Given the description of an element on the screen output the (x, y) to click on. 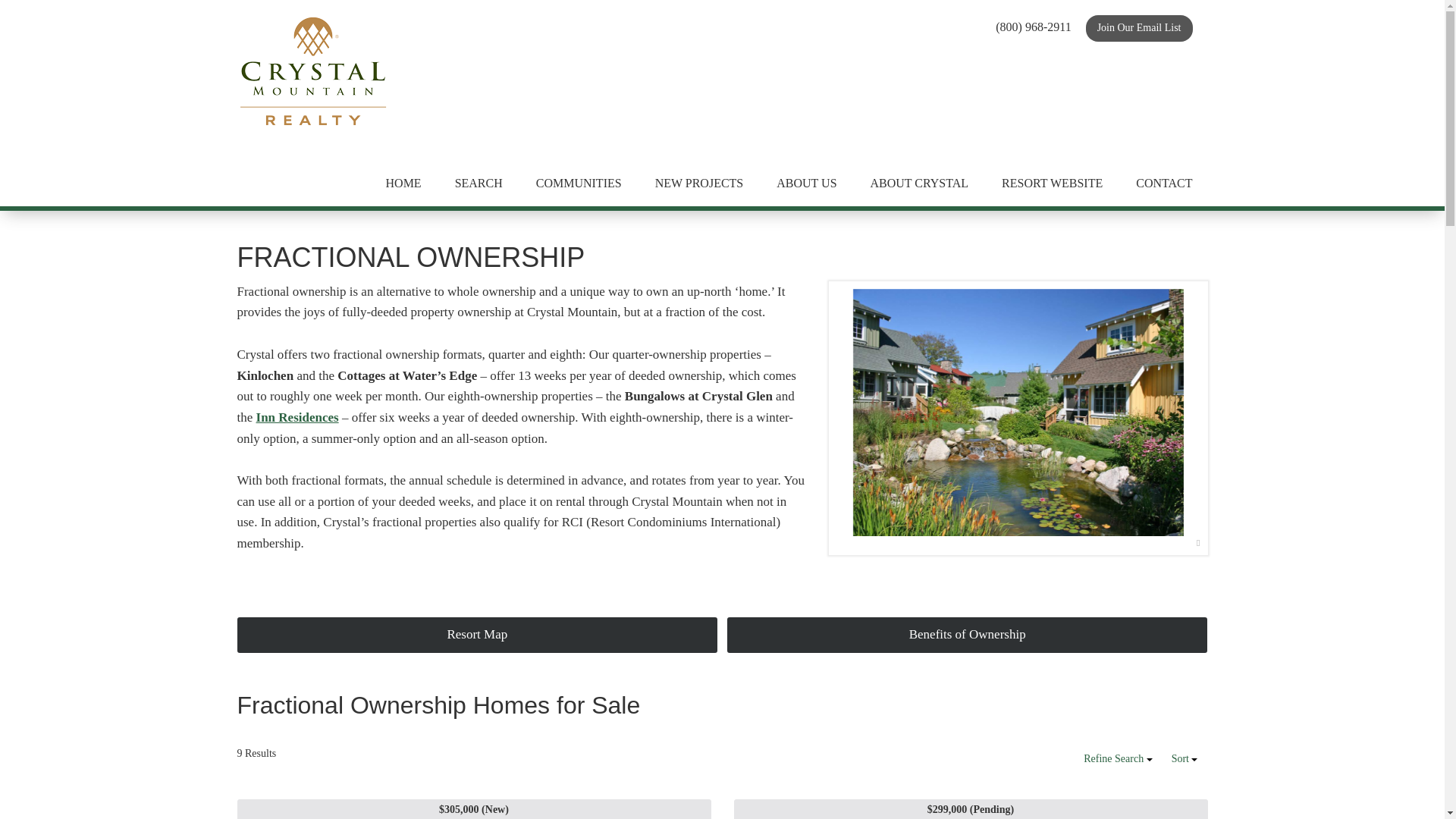
HOME (403, 183)
NEW PROJECTS (699, 183)
COMMUNITIES (579, 183)
ABOUT CRYSTAL (920, 183)
ABOUT US (806, 183)
Join Our Email List (1139, 28)
SEARCH (478, 183)
CONTACT (1164, 183)
RESORT WEBSITE (1052, 183)
